Given the description of an element on the screen output the (x, y) to click on. 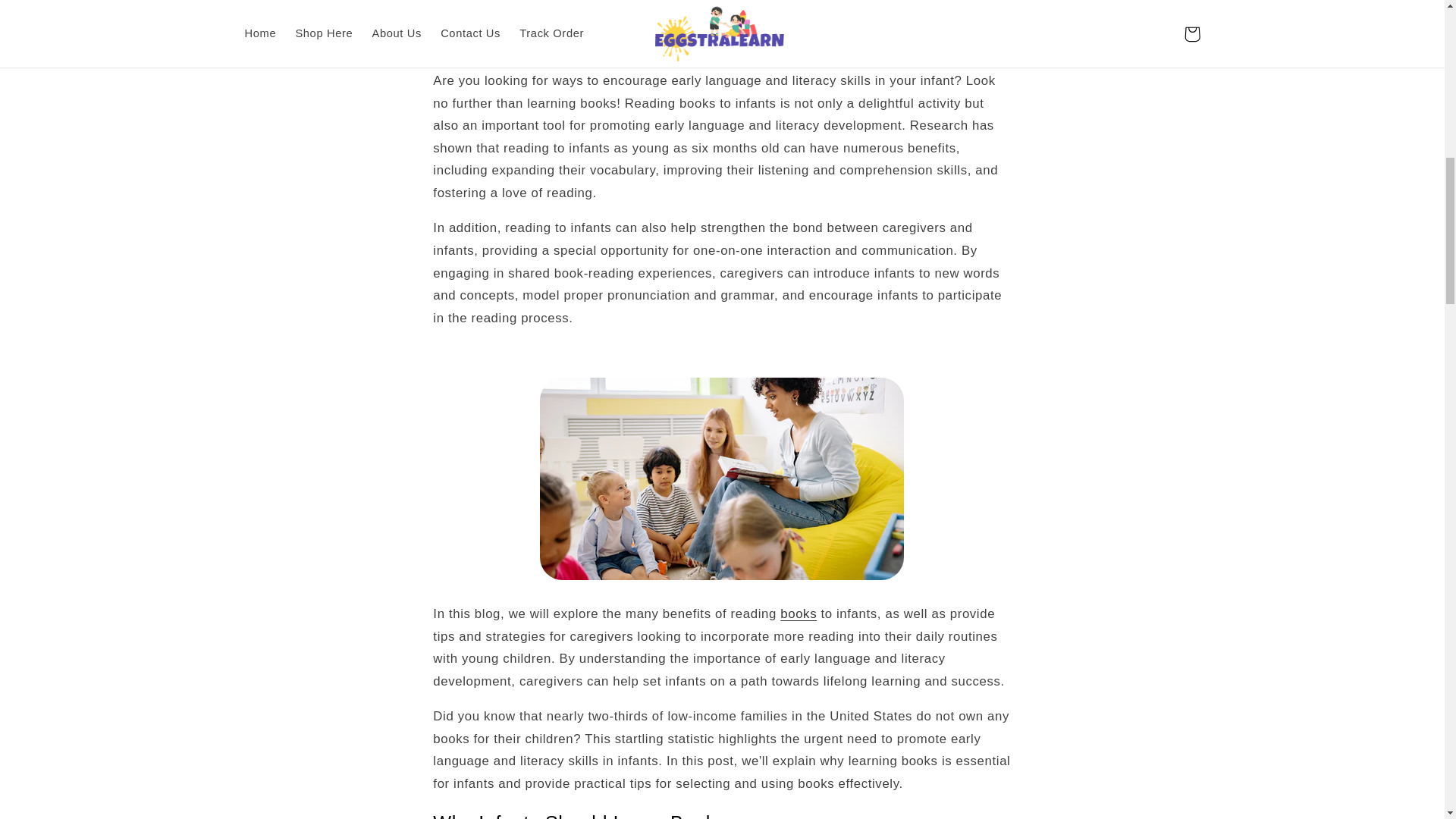
books (798, 613)
